Given the description of an element on the screen output the (x, y) to click on. 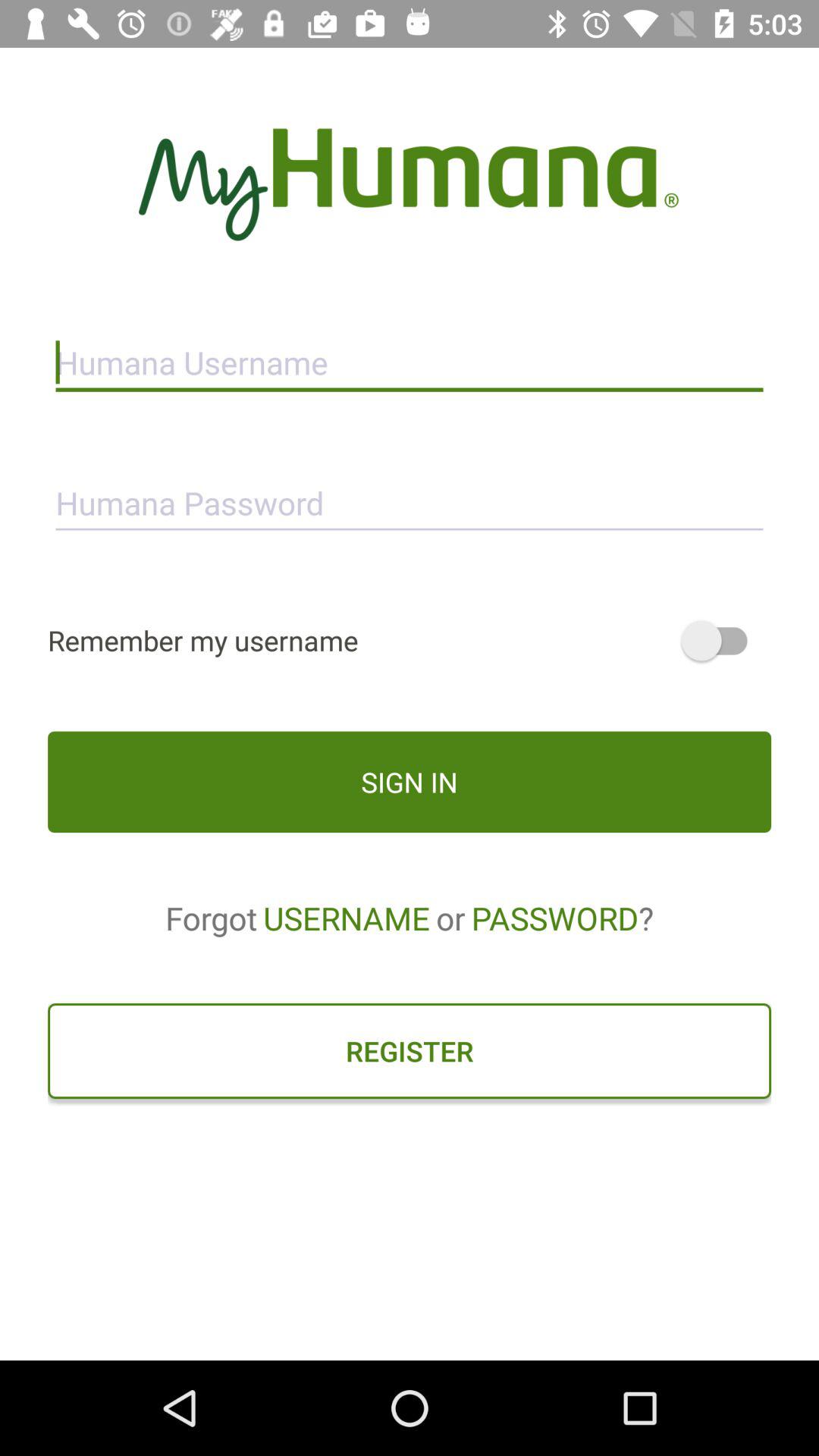
jump to register item (409, 1050)
